Given the description of an element on the screen output the (x, y) to click on. 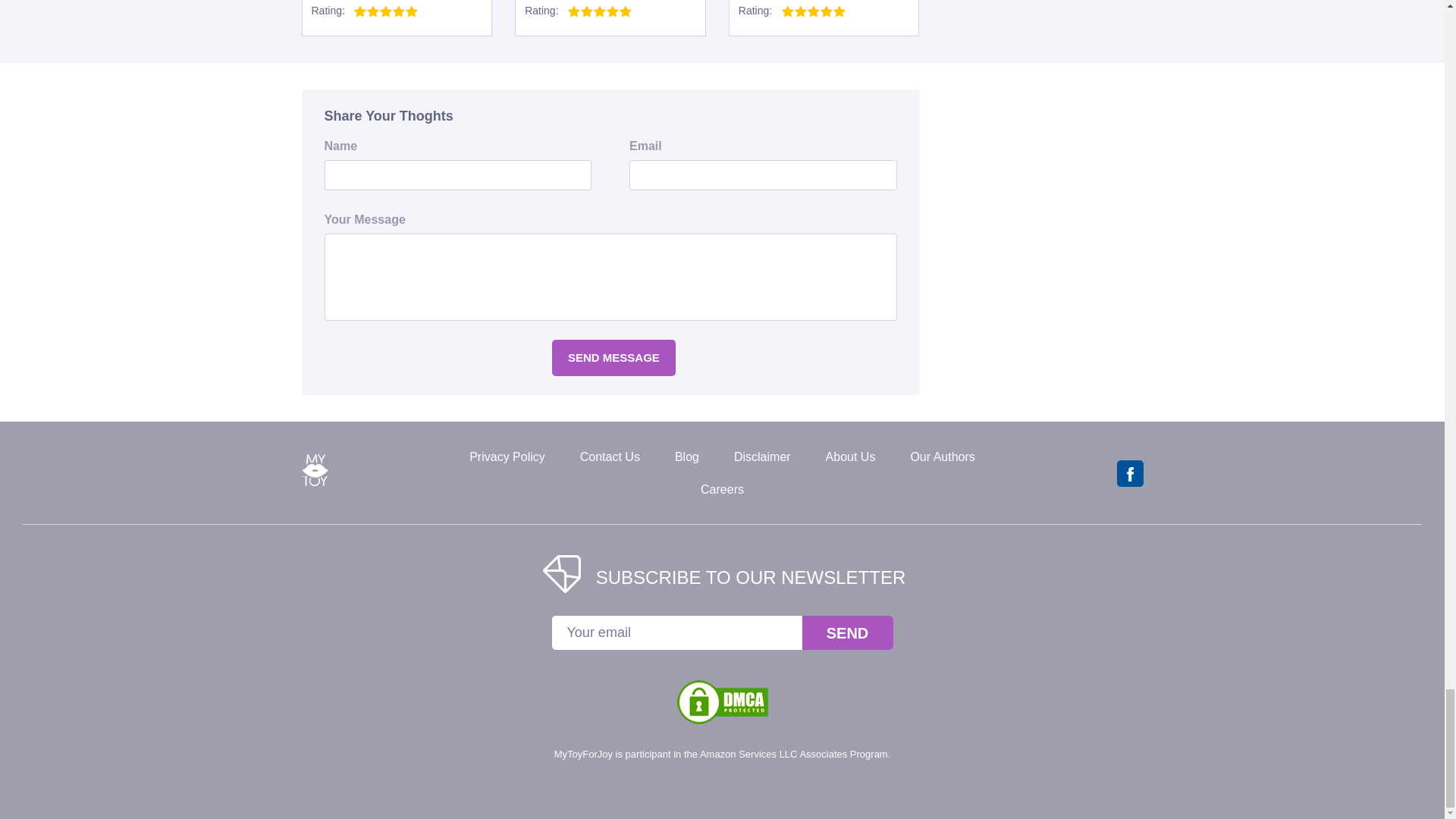
Privacy Policy (507, 456)
MyToyForJoy.com (315, 483)
Contact Us (610, 456)
